Given the description of an element on the screen output the (x, y) to click on. 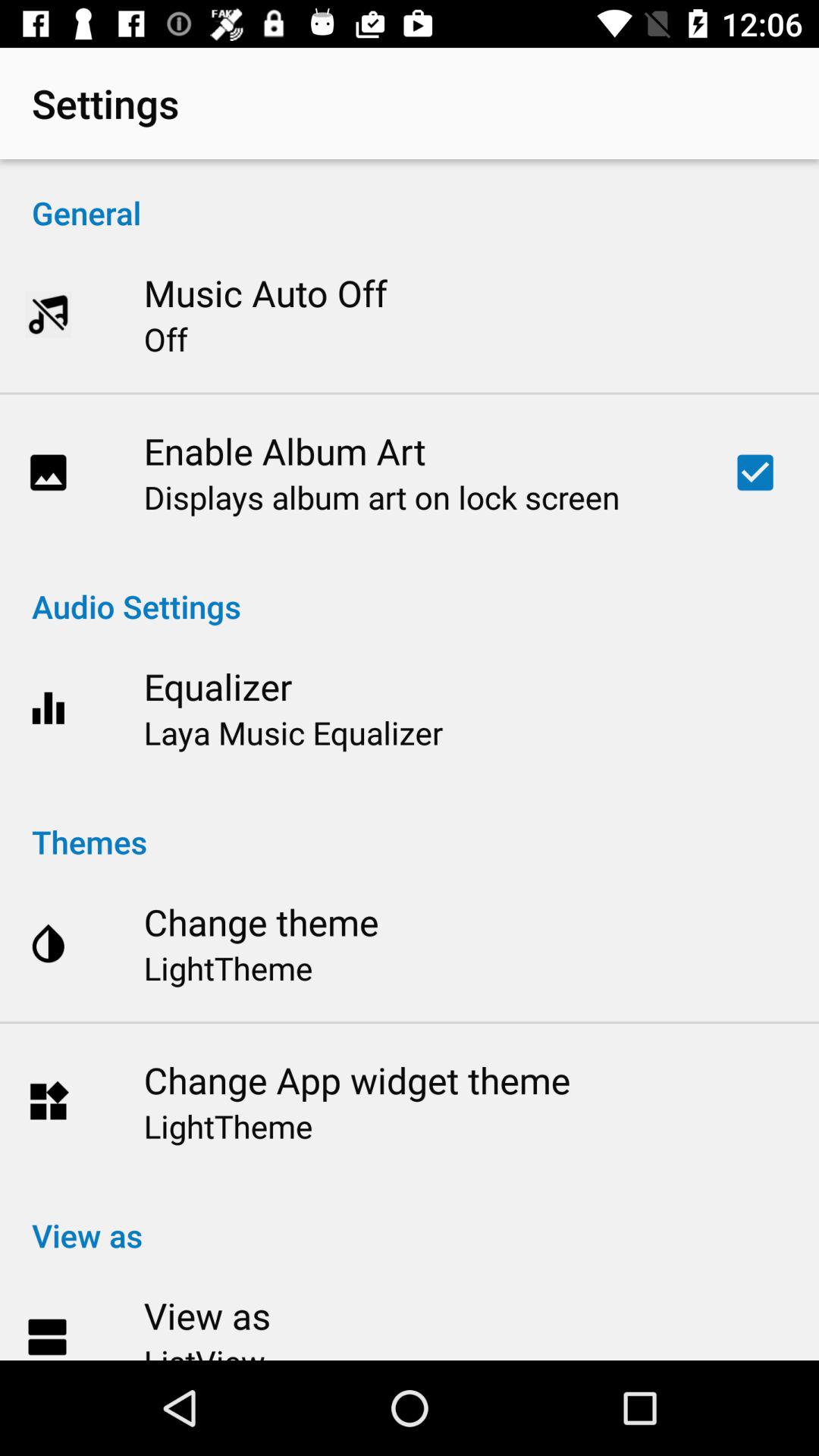
press item below laya music equalizer icon (409, 825)
